Given the description of an element on the screen output the (x, y) to click on. 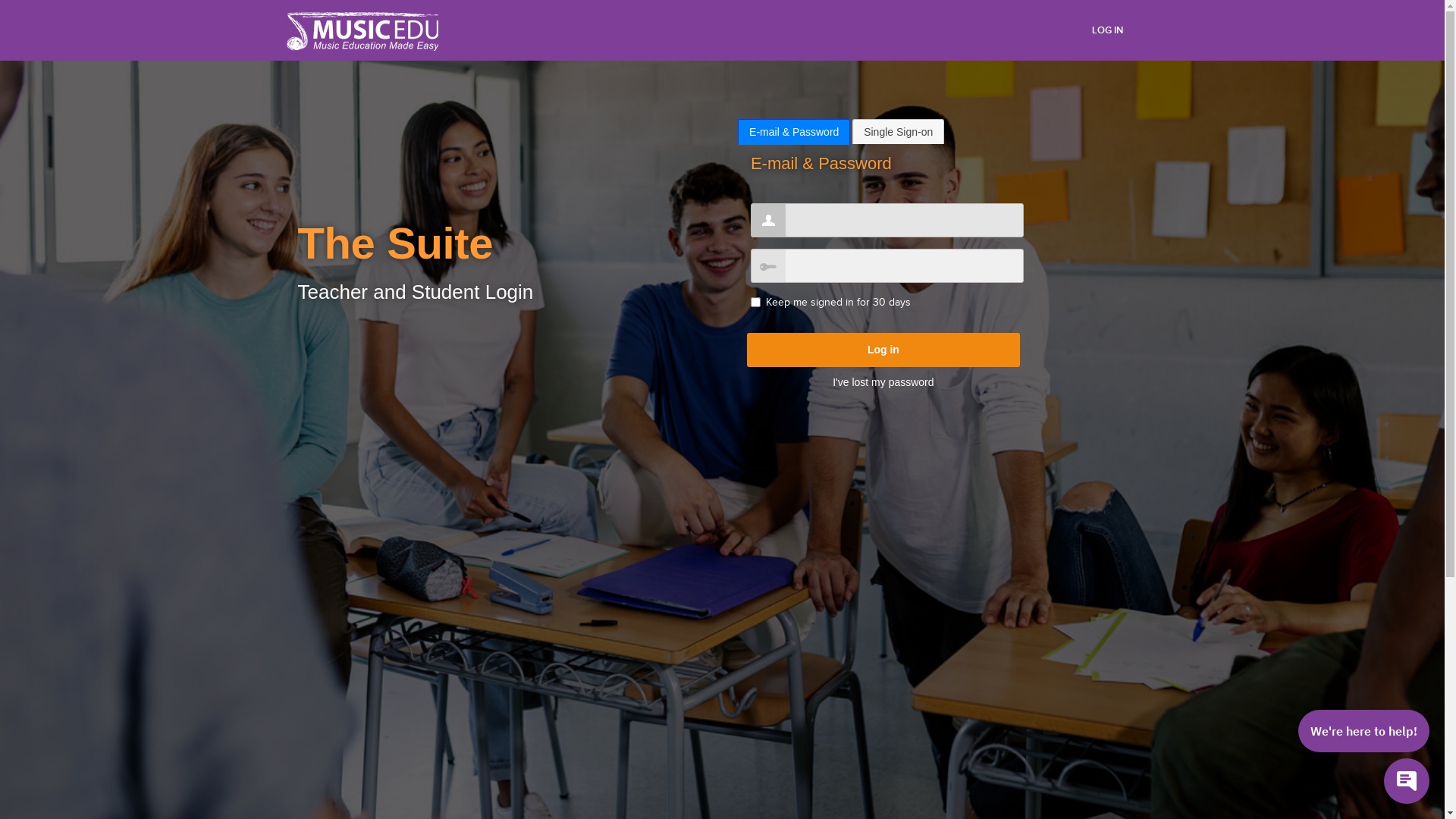
Log in Element type: text (882, 349)
E-mail & Password Element type: text (793, 131)
LOG IN Element type: text (1106, 30)
Single Sign-on Element type: text (898, 131)
I've lost my password Element type: text (882, 382)
